Given the description of an element on the screen output the (x, y) to click on. 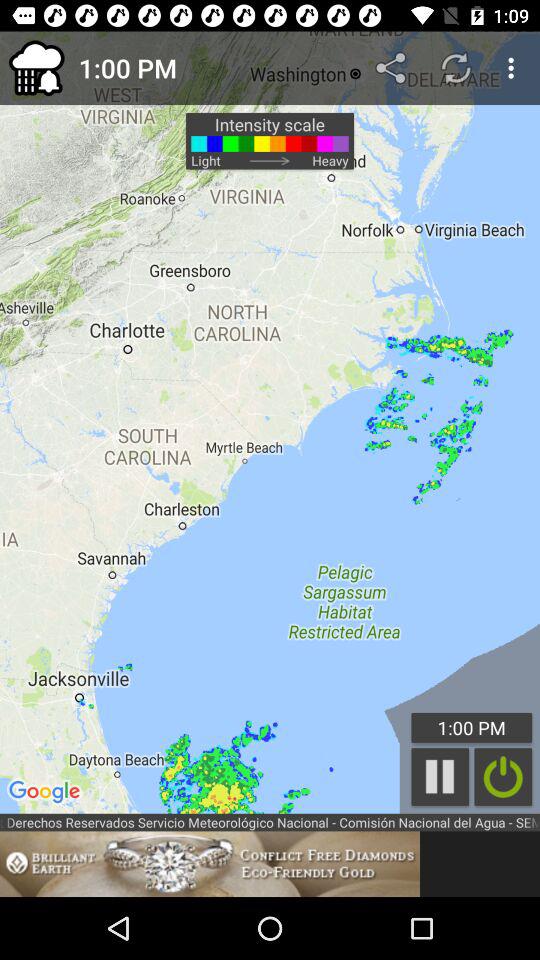
launch the item above 1:00 pm icon (455, 67)
